Given the description of an element on the screen output the (x, y) to click on. 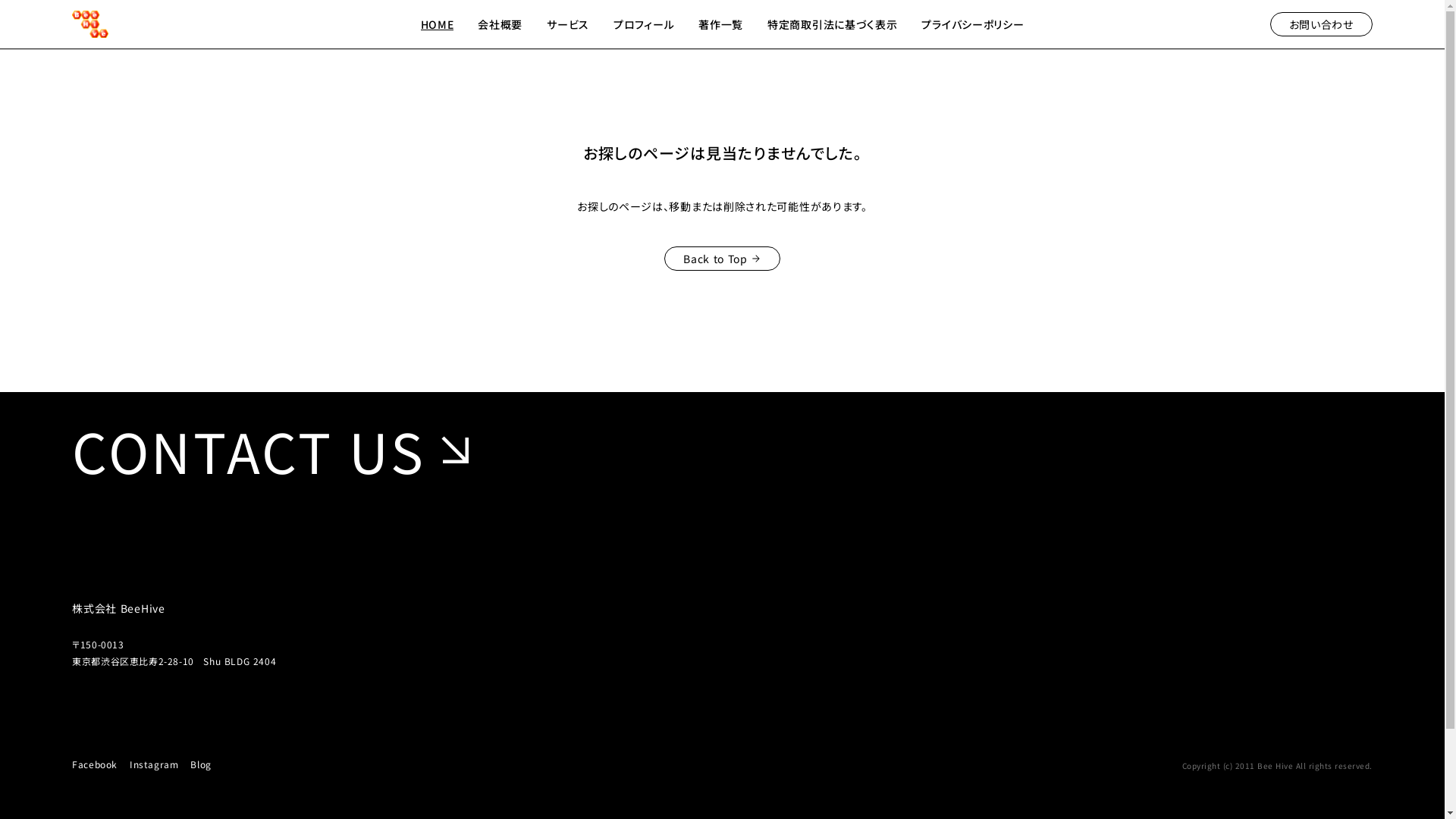
Facebook Element type: text (94, 765)
Blog Element type: text (200, 765)
HOME Element type: text (437, 23)
Back to Top Element type: text (722, 258)
CONTACT US Element type: text (277, 450)
